Given the description of an element on the screen output the (x, y) to click on. 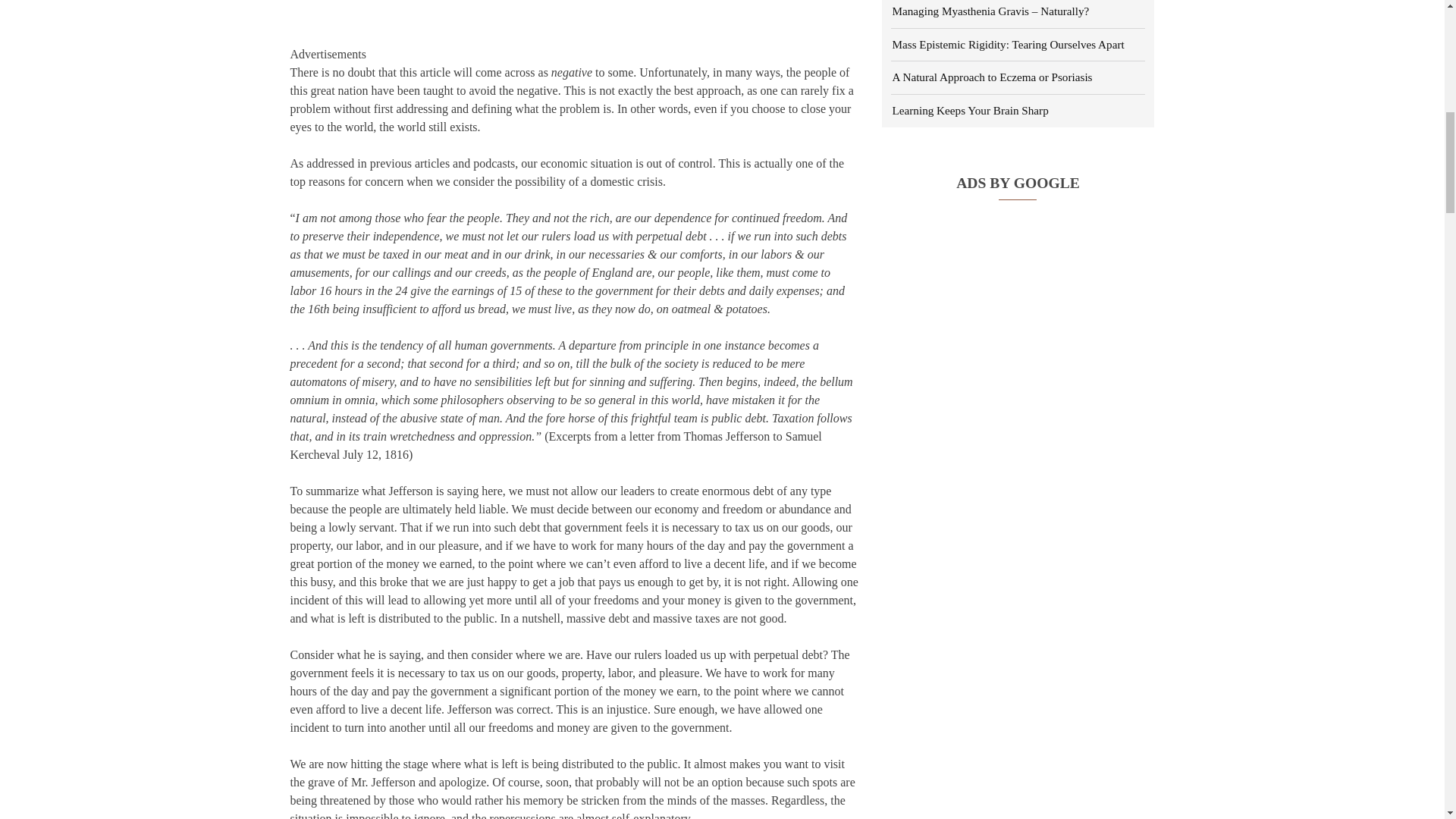
Learning Keeps Your Brain Sharp (968, 110)
Mass Epistemic Rigidity: Tearing Ourselves Apart (1006, 43)
A Natural Approach to Eczema or Psoriasis (990, 76)
